Given the description of an element on the screen output the (x, y) to click on. 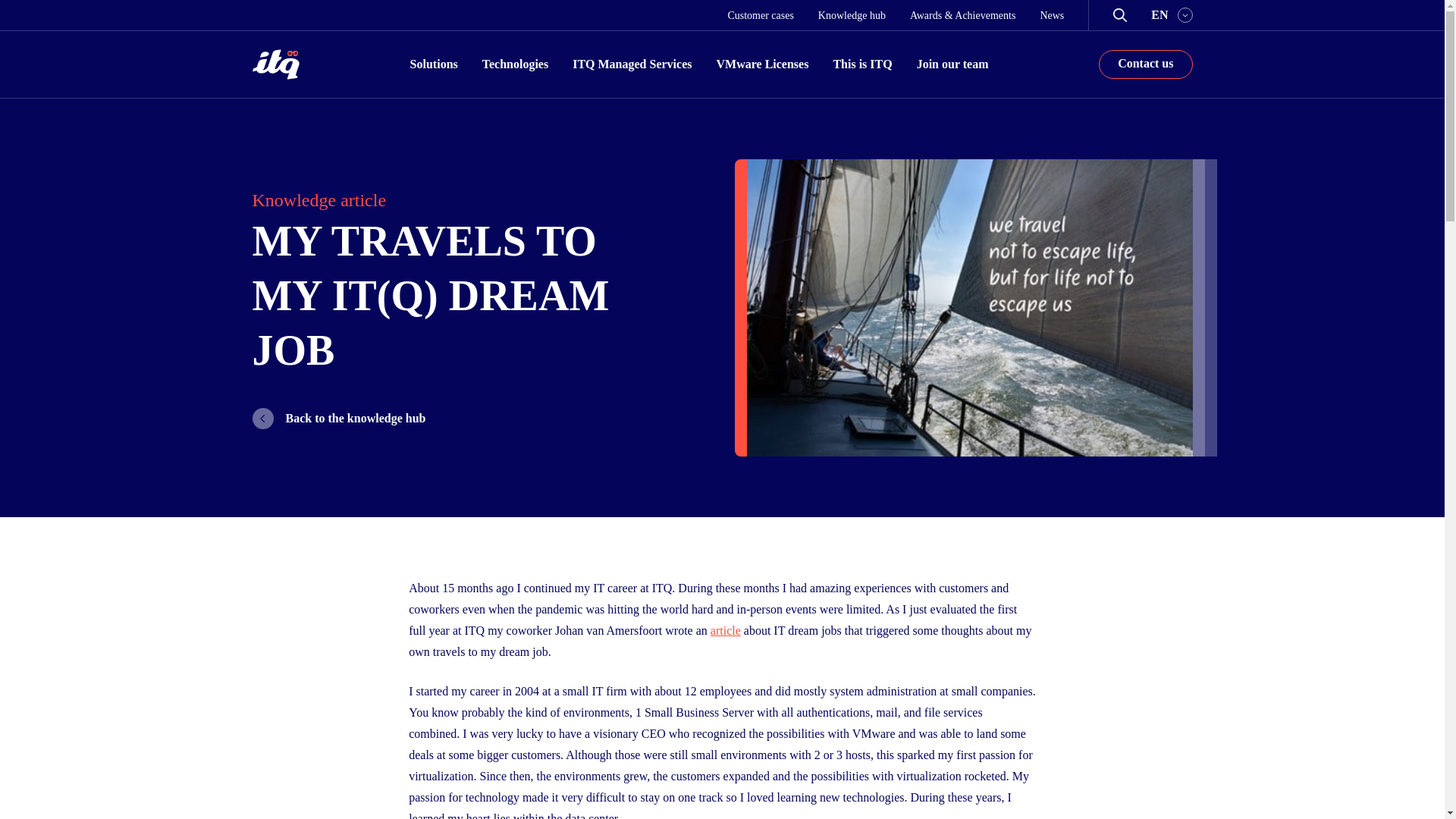
Customer cases (759, 14)
Knowledge hub (851, 14)
Solutions (434, 64)
EN (1171, 14)
Technologies (514, 64)
News (1051, 14)
